Given the description of an element on the screen output the (x, y) to click on. 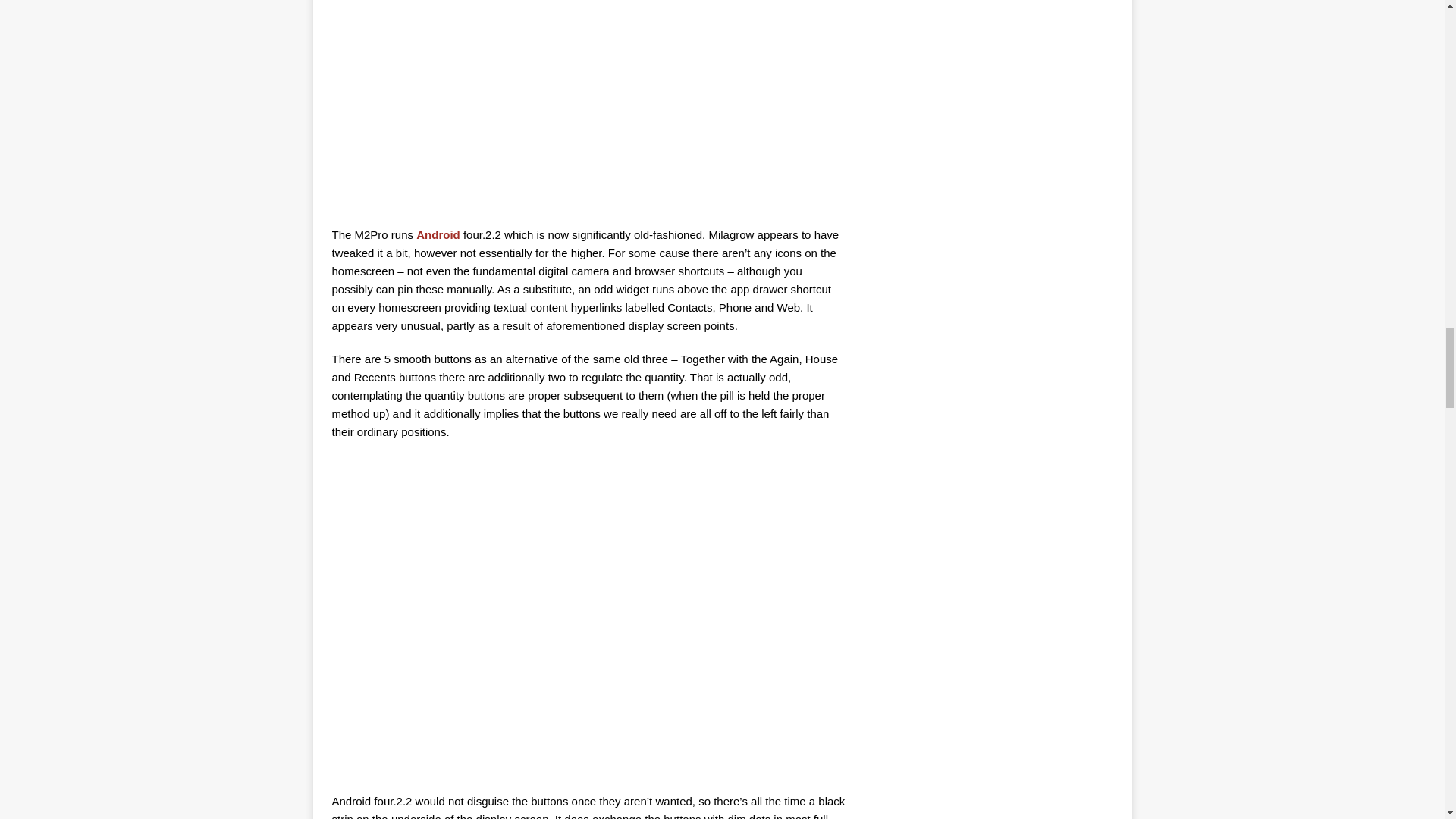
Android (438, 234)
